Given the description of an element on the screen output the (x, y) to click on. 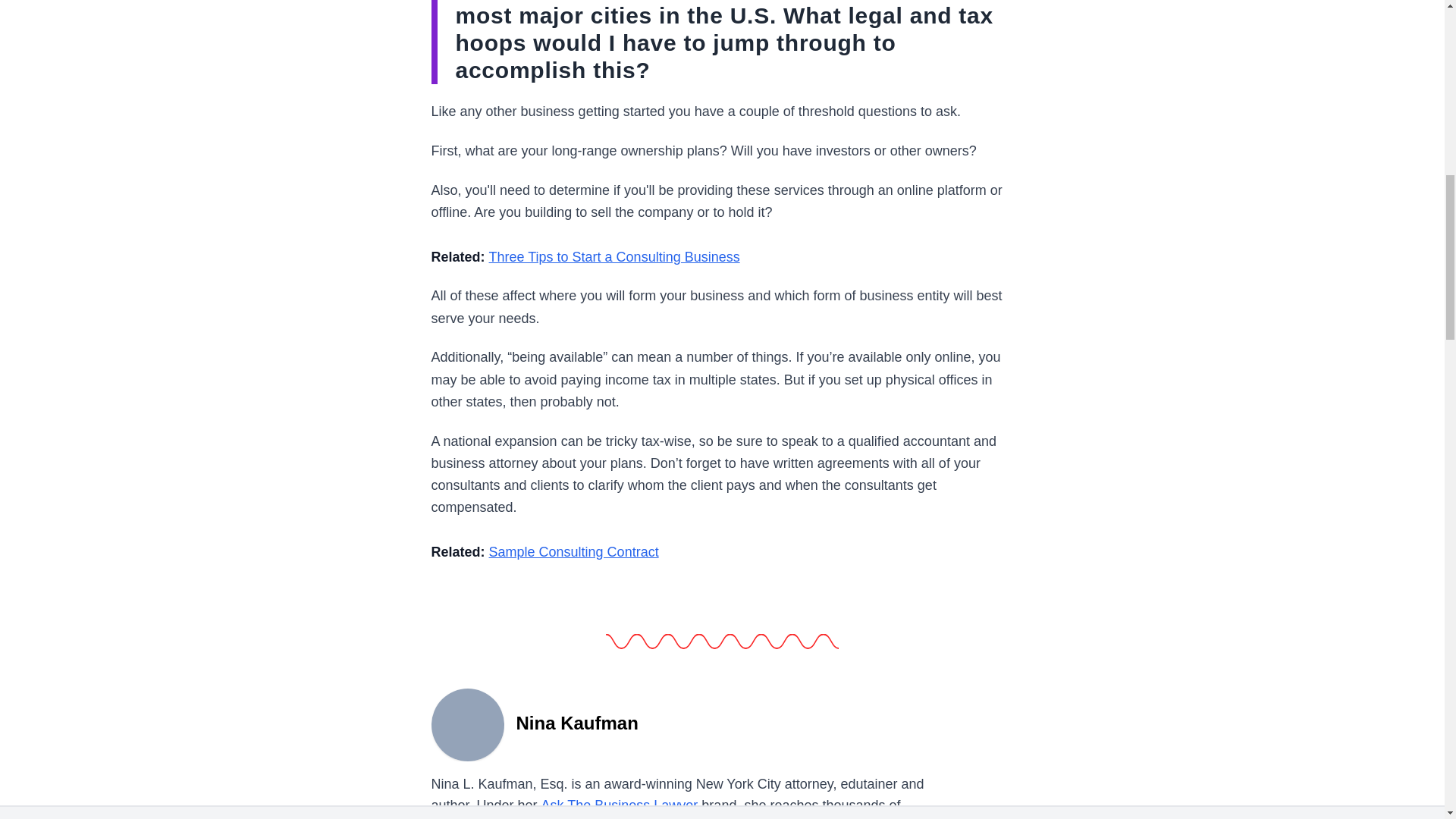
Nina Kaufman (466, 723)
